Given the description of an element on the screen output the (x, y) to click on. 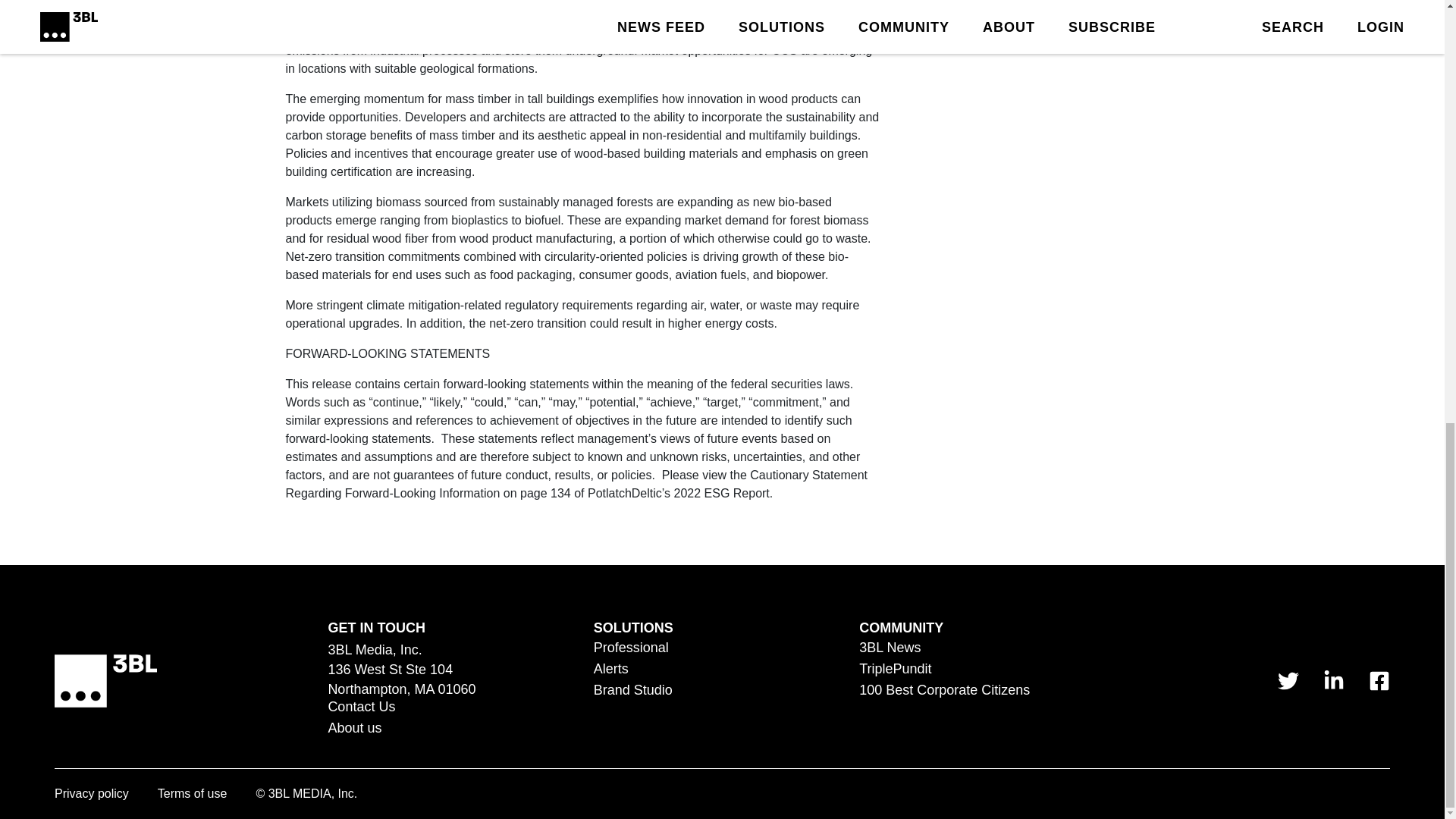
link to 3 B L Media's Facebook (1379, 680)
link to 3 B L Media's Linkedin (1333, 680)
link to 3 B L Media's Twitter (1288, 680)
